Given the description of an element on the screen output the (x, y) to click on. 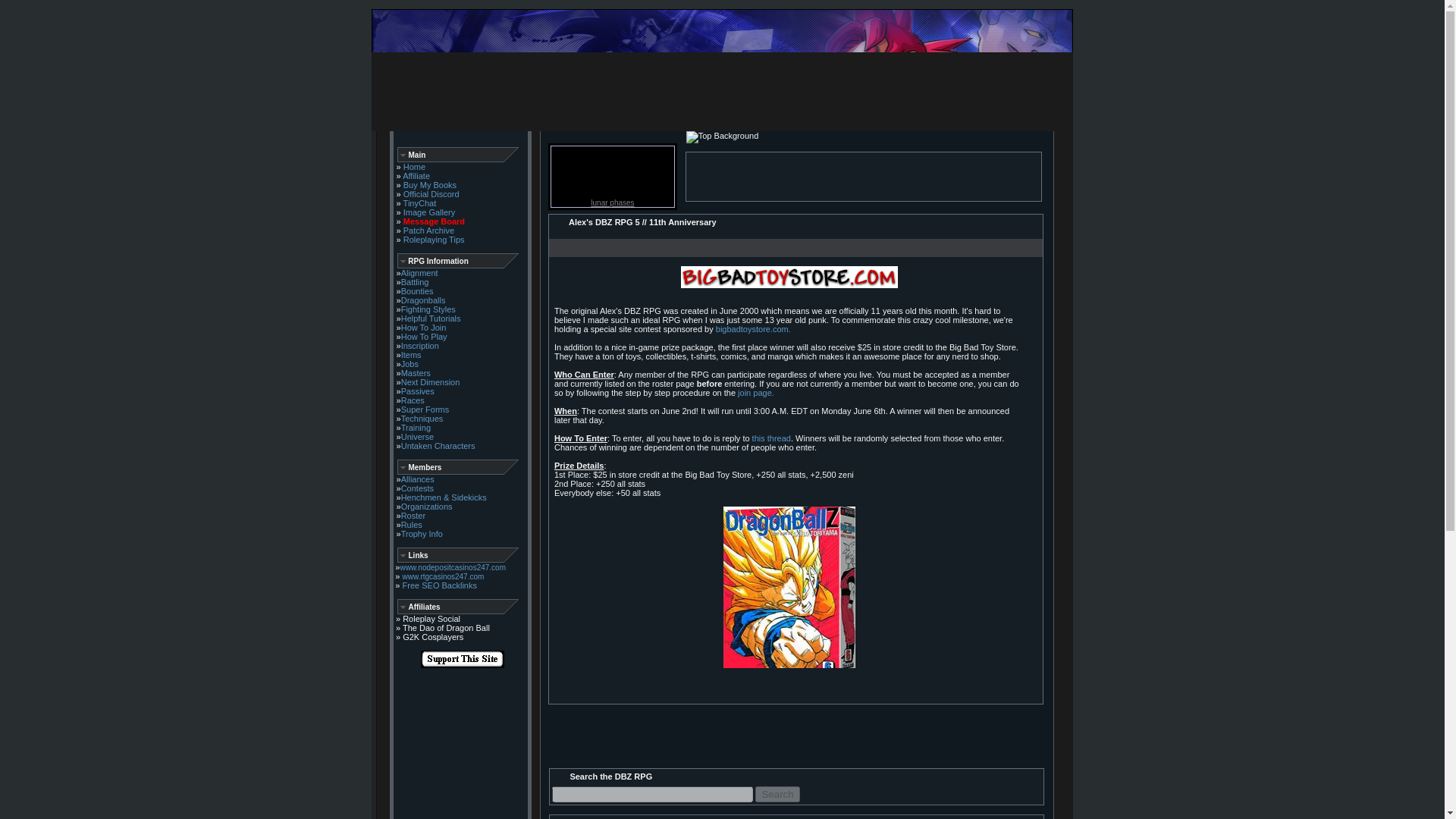
Techniques (422, 418)
Masters (415, 372)
Training (415, 427)
Search (777, 794)
Home (414, 166)
Roster (413, 515)
Free SEO Backlinks (440, 584)
Contests (417, 488)
TinyChat (419, 203)
Next Dimension (430, 381)
